Given the description of an element on the screen output the (x, y) to click on. 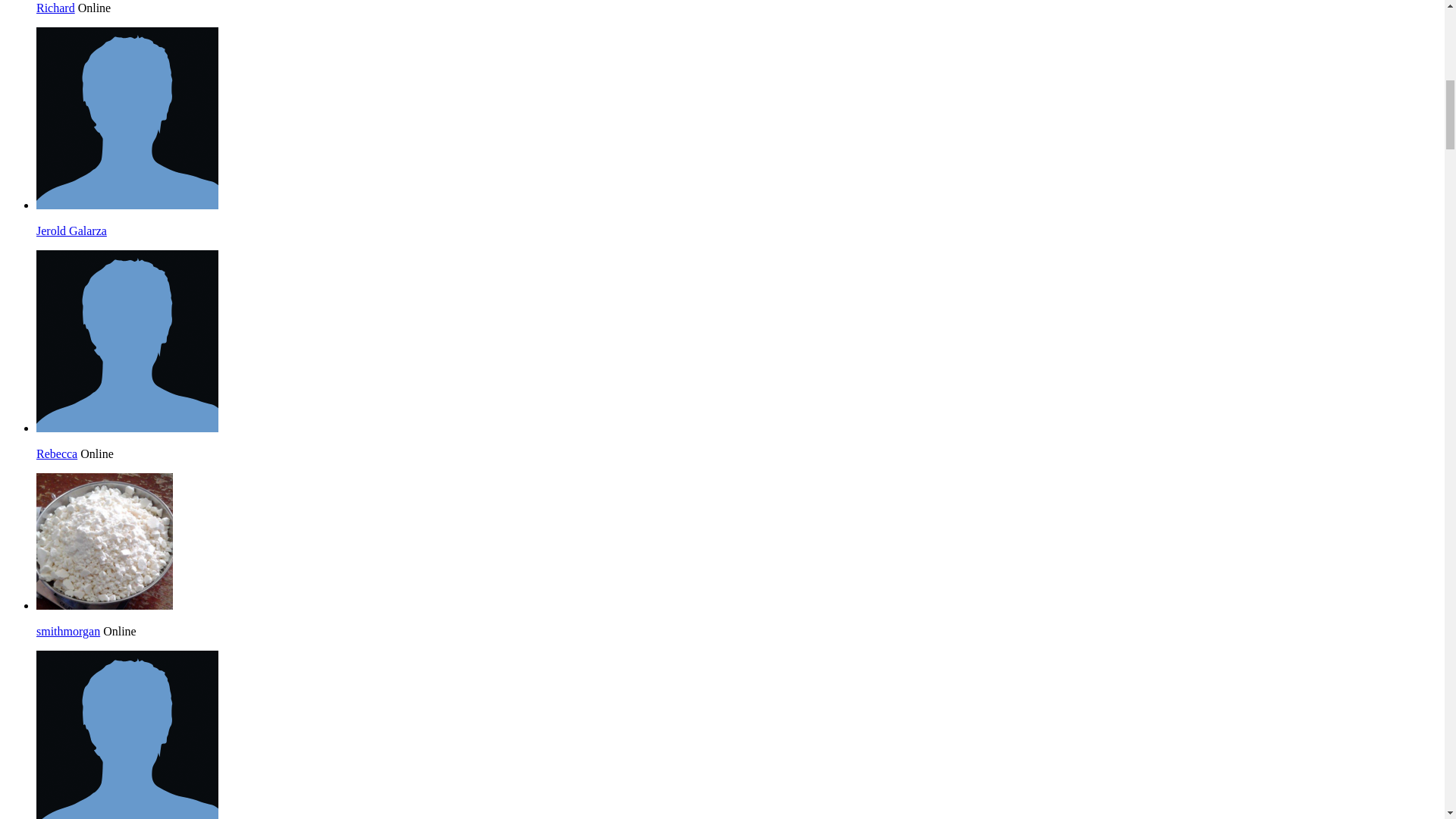
Jerold Galarza (127, 205)
Rebecca (127, 427)
smithmorgan (68, 631)
Richard (55, 7)
smithmorgan (104, 604)
Jerold Galarza (71, 230)
Rebecca (56, 453)
